Given the description of an element on the screen output the (x, y) to click on. 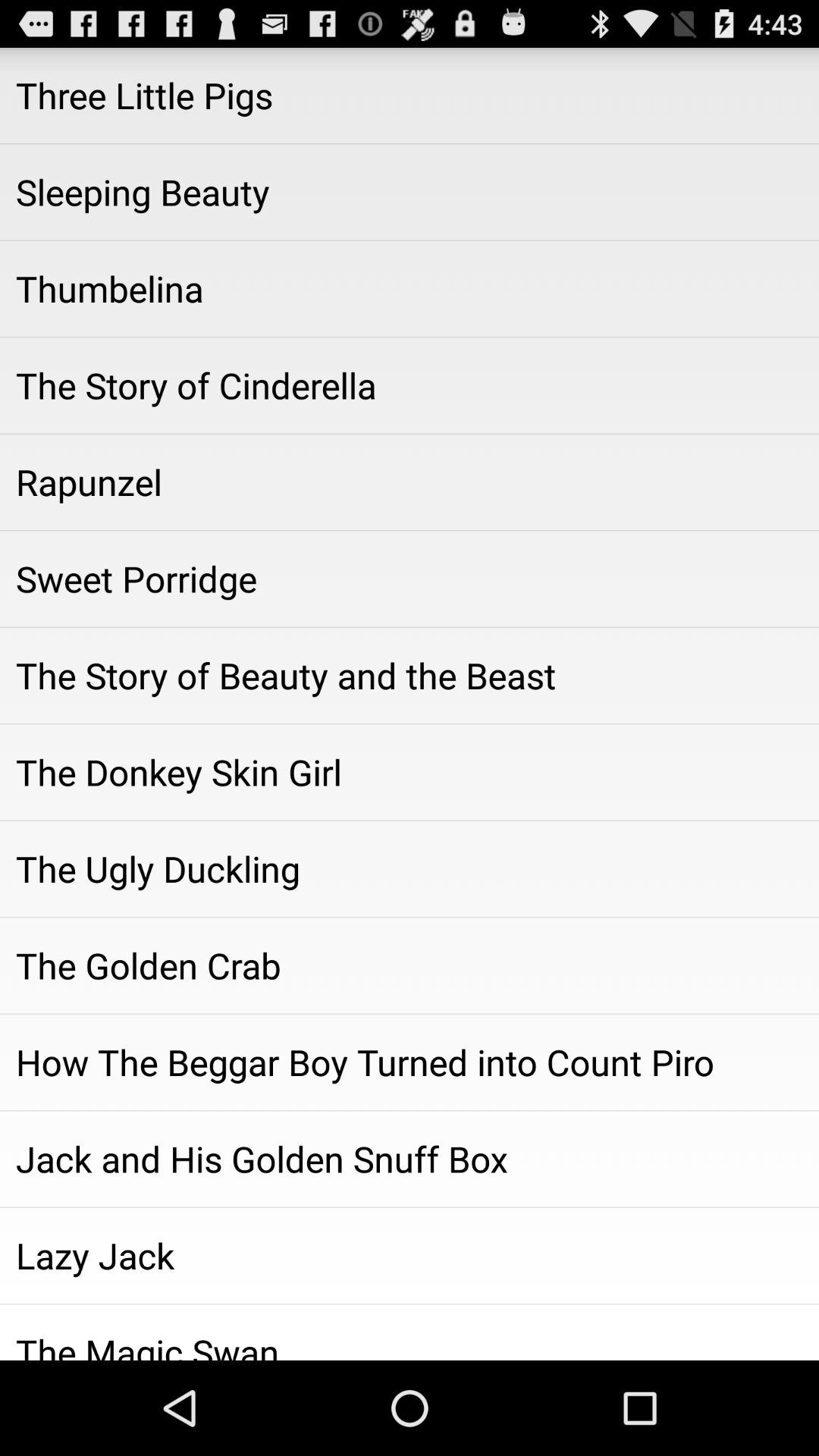
scroll to sweet porridge icon (409, 578)
